Given the description of an element on the screen output the (x, y) to click on. 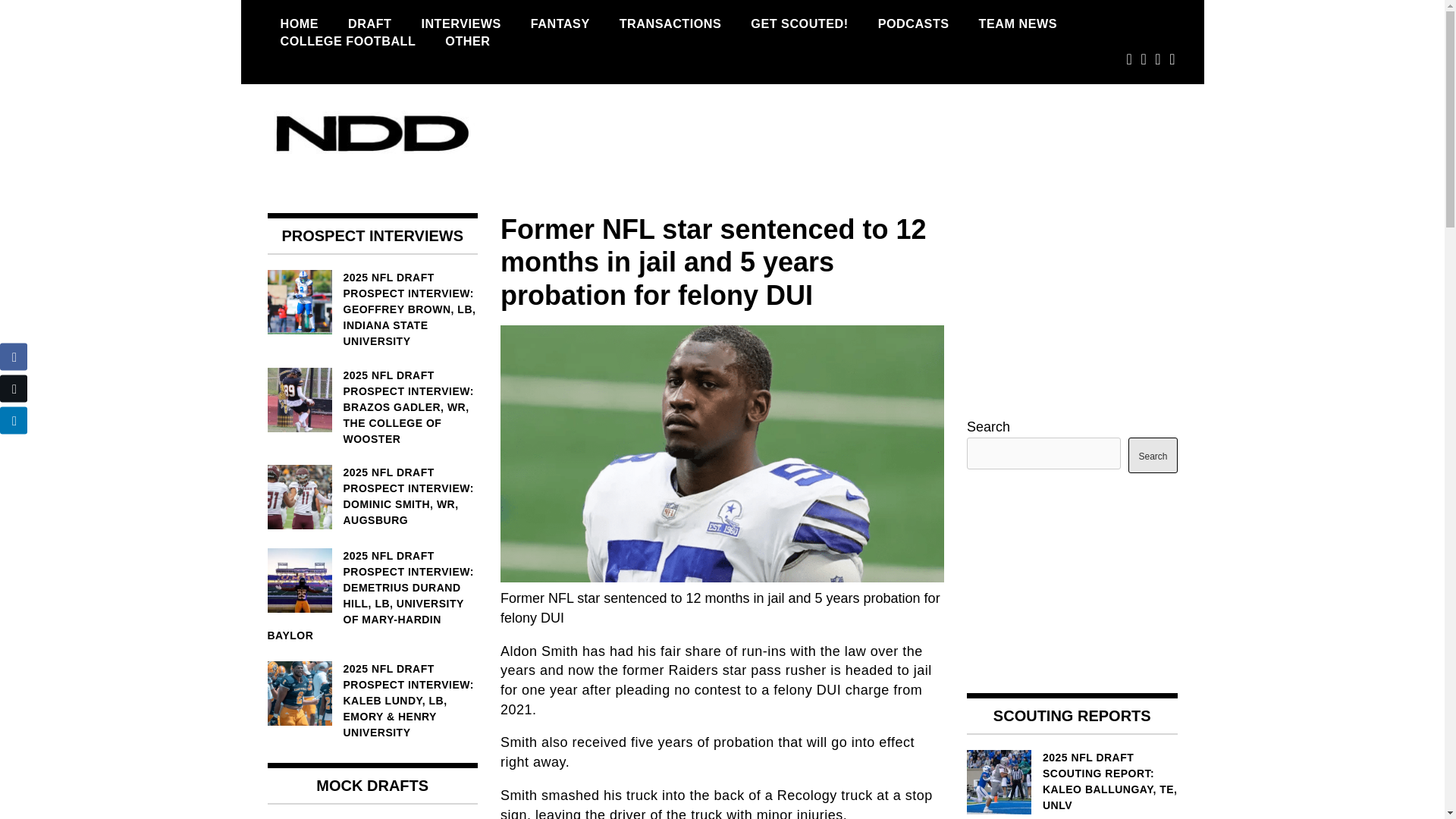
TRANSACTIONS (670, 23)
DRAFT (369, 23)
GET SCOUTED! (799, 23)
HOME (298, 23)
FANTASY (560, 23)
INTERVIEWS (460, 23)
TEAM NEWS (1018, 23)
PODCASTS (913, 23)
